Given the description of an element on the screen output the (x, y) to click on. 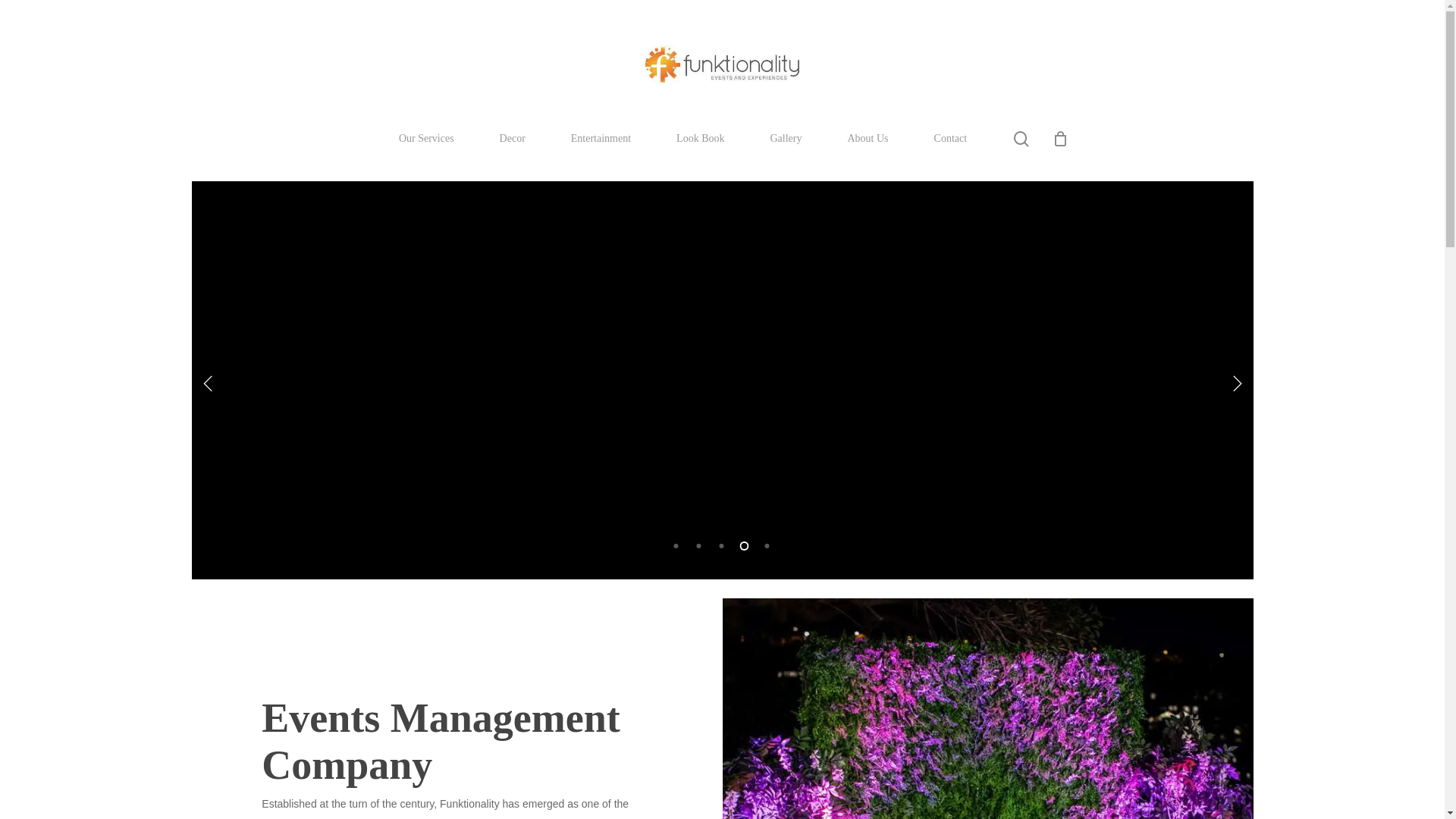
Our Services Element type: text (426, 138)
Entertainment Element type: text (600, 138)
Gallery Element type: text (786, 138)
Look Book Element type: text (700, 138)
About Us Element type: text (867, 138)
Contact Element type: text (950, 138)
search Element type: text (1021, 138)
Decor Element type: text (512, 138)
